Given the description of an element on the screen output the (x, y) to click on. 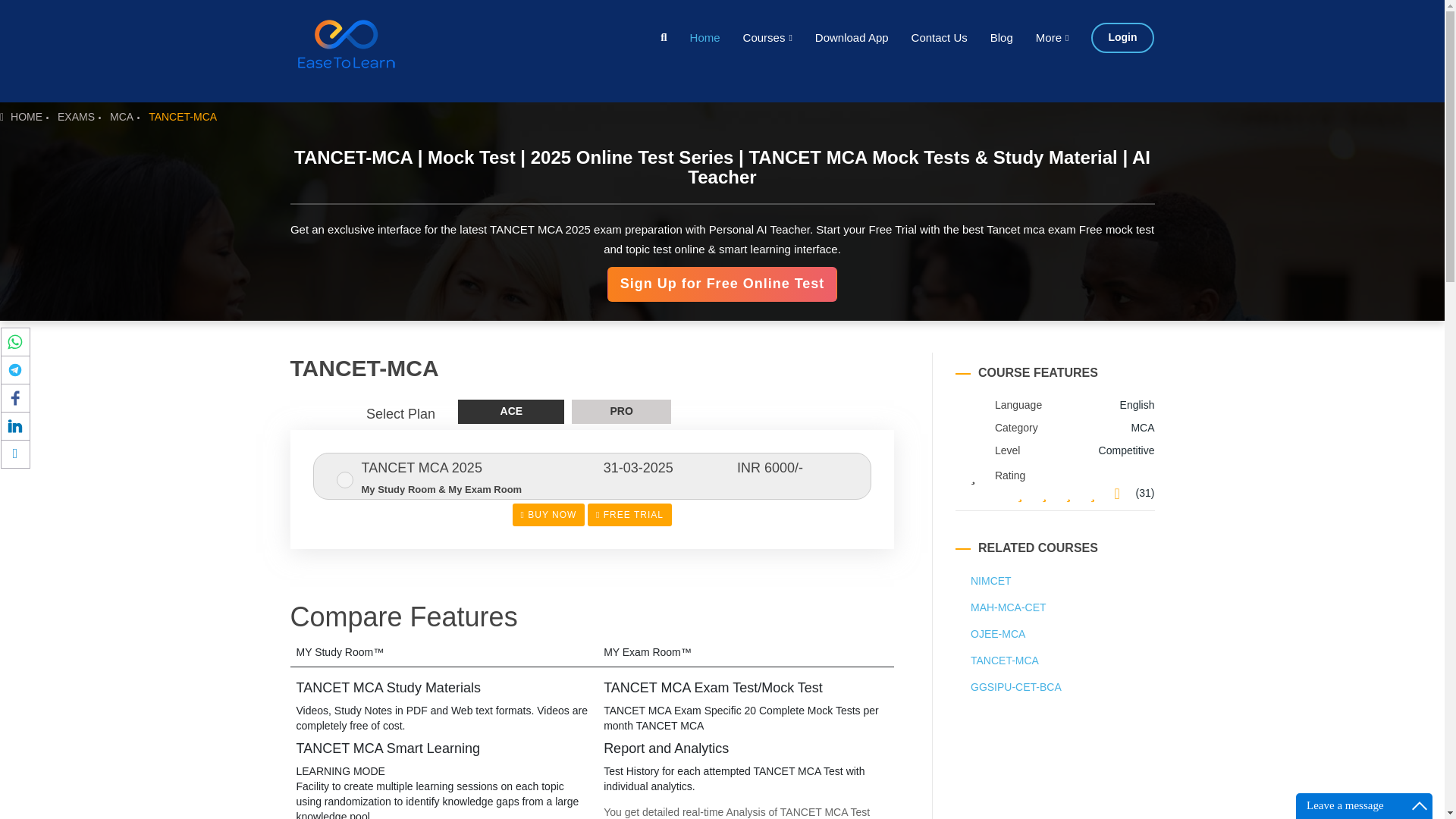
Maximize (1419, 805)
Home (693, 37)
Home (693, 37)
Courses (756, 37)
